Given the description of an element on the screen output the (x, y) to click on. 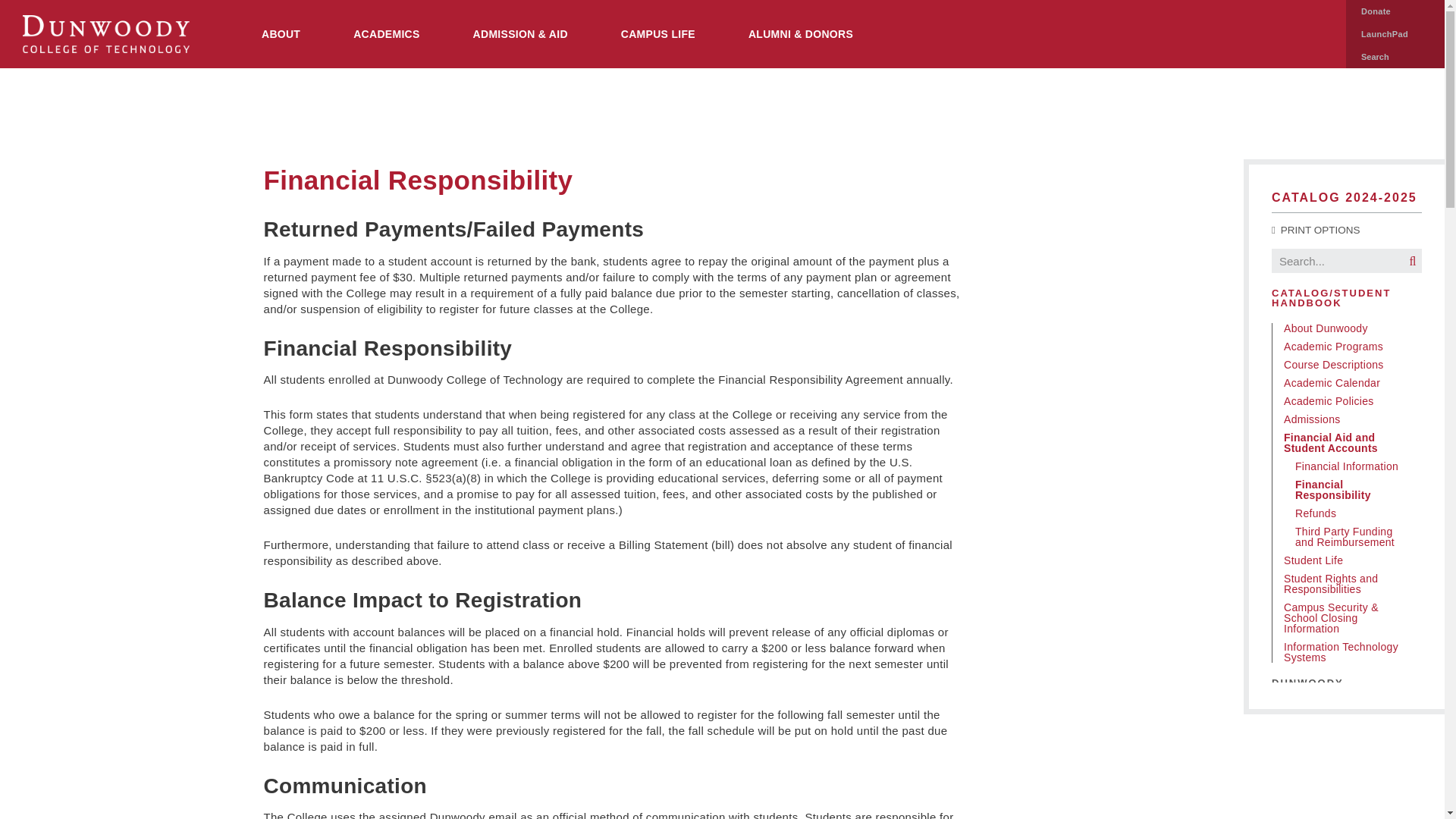
Academic Policies (1347, 400)
Student Rights and Responsibilities (1347, 583)
Third Party Funding and Reimbursement (1352, 536)
Admissions (1347, 419)
DUNWOODY EMPLOYEE DIRECTORY (1340, 692)
PRINT OPTIONS (1315, 229)
Financial Responsibility (1352, 489)
About Dunwoody (1347, 327)
ABOUT (280, 33)
Dunwoody College of Technology (106, 33)
